Given the description of an element on the screen output the (x, y) to click on. 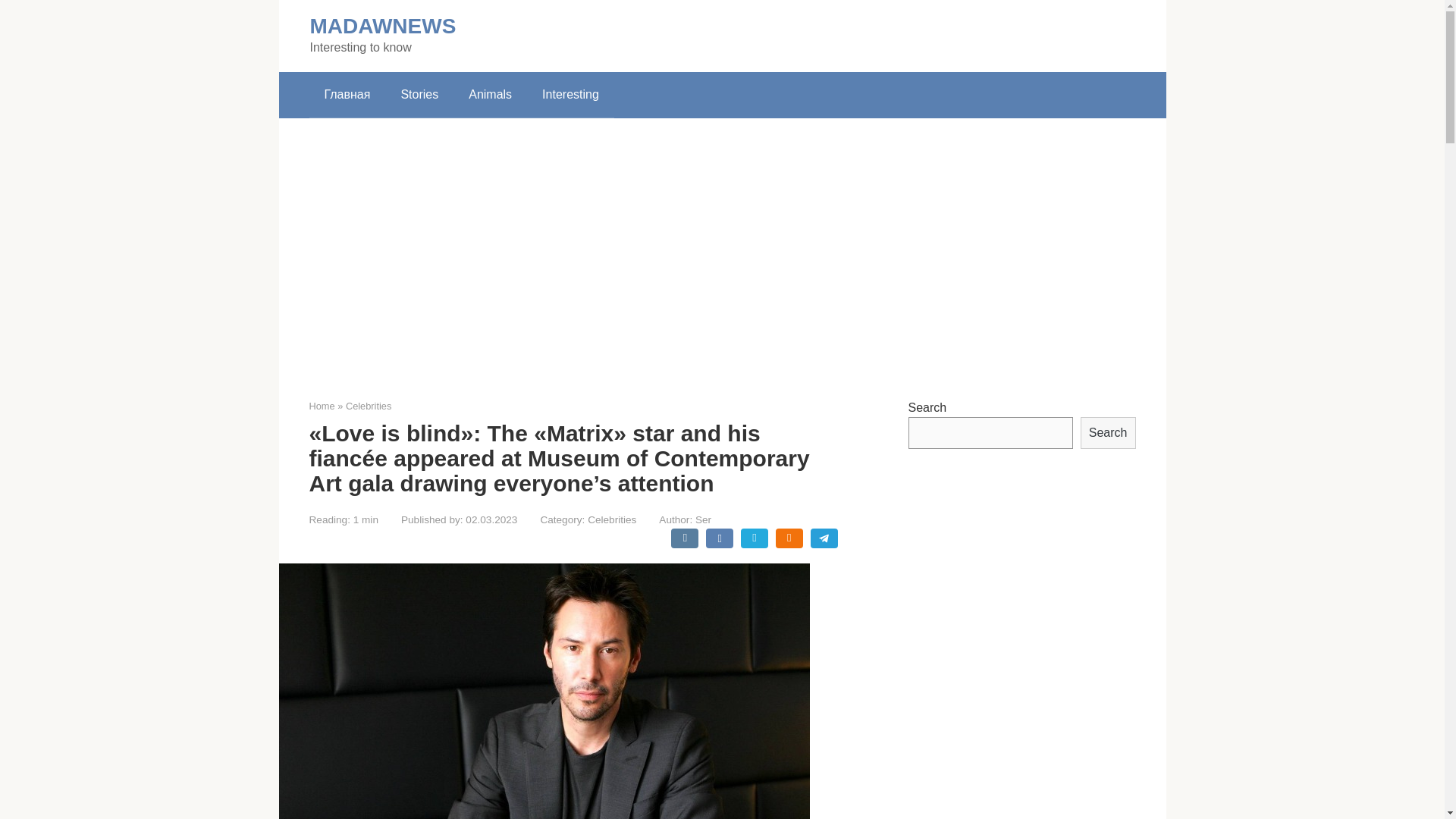
Stories (418, 94)
Celebrities (368, 405)
MADAWNEWS (381, 25)
Home (321, 405)
Animals (489, 94)
Celebrities (612, 519)
Interesting (570, 94)
